Given the description of an element on the screen output the (x, y) to click on. 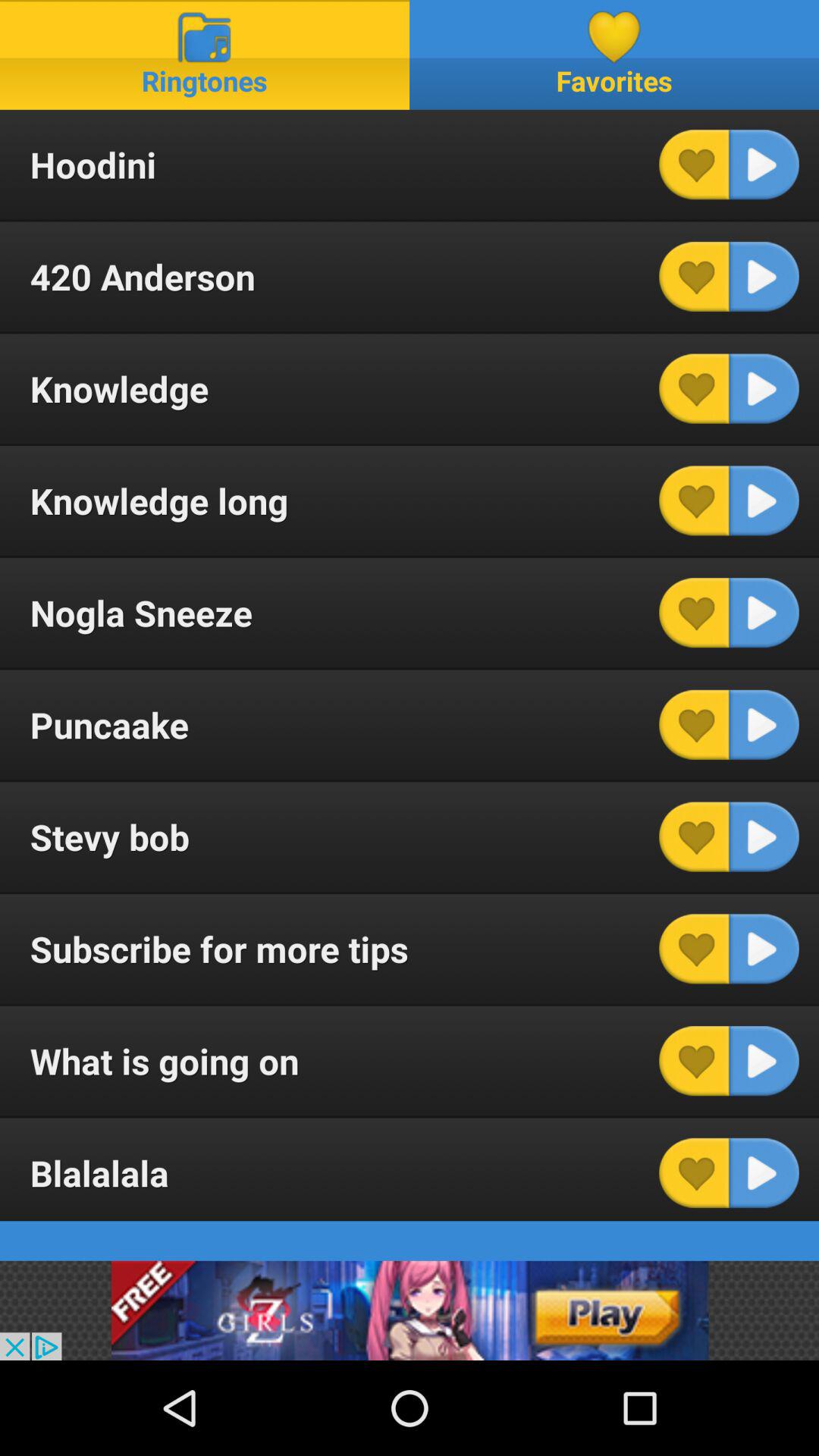
play ringtone (764, 276)
